Given the description of an element on the screen output the (x, y) to click on. 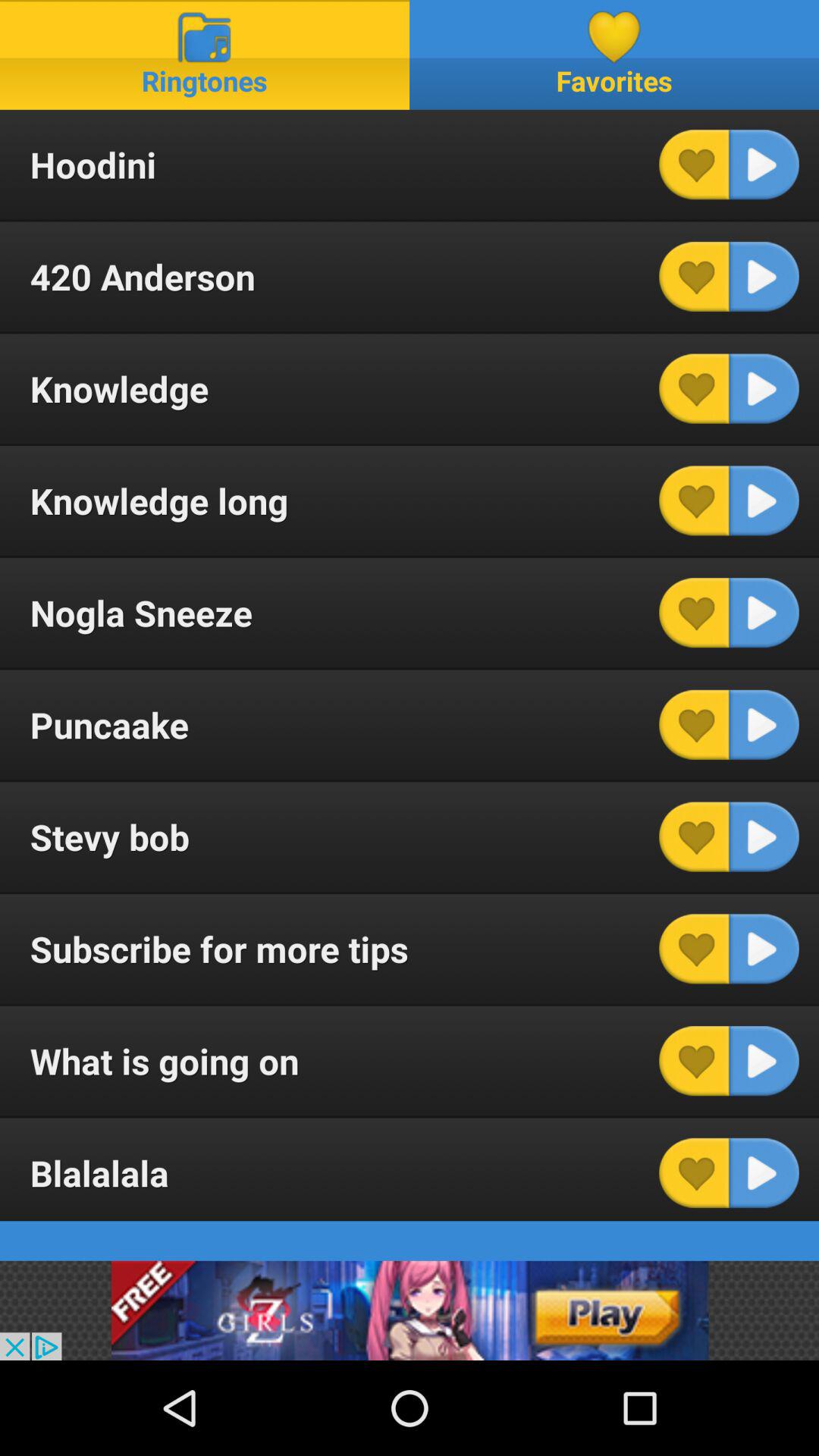
play ringtone (764, 276)
